Given the description of an element on the screen output the (x, y) to click on. 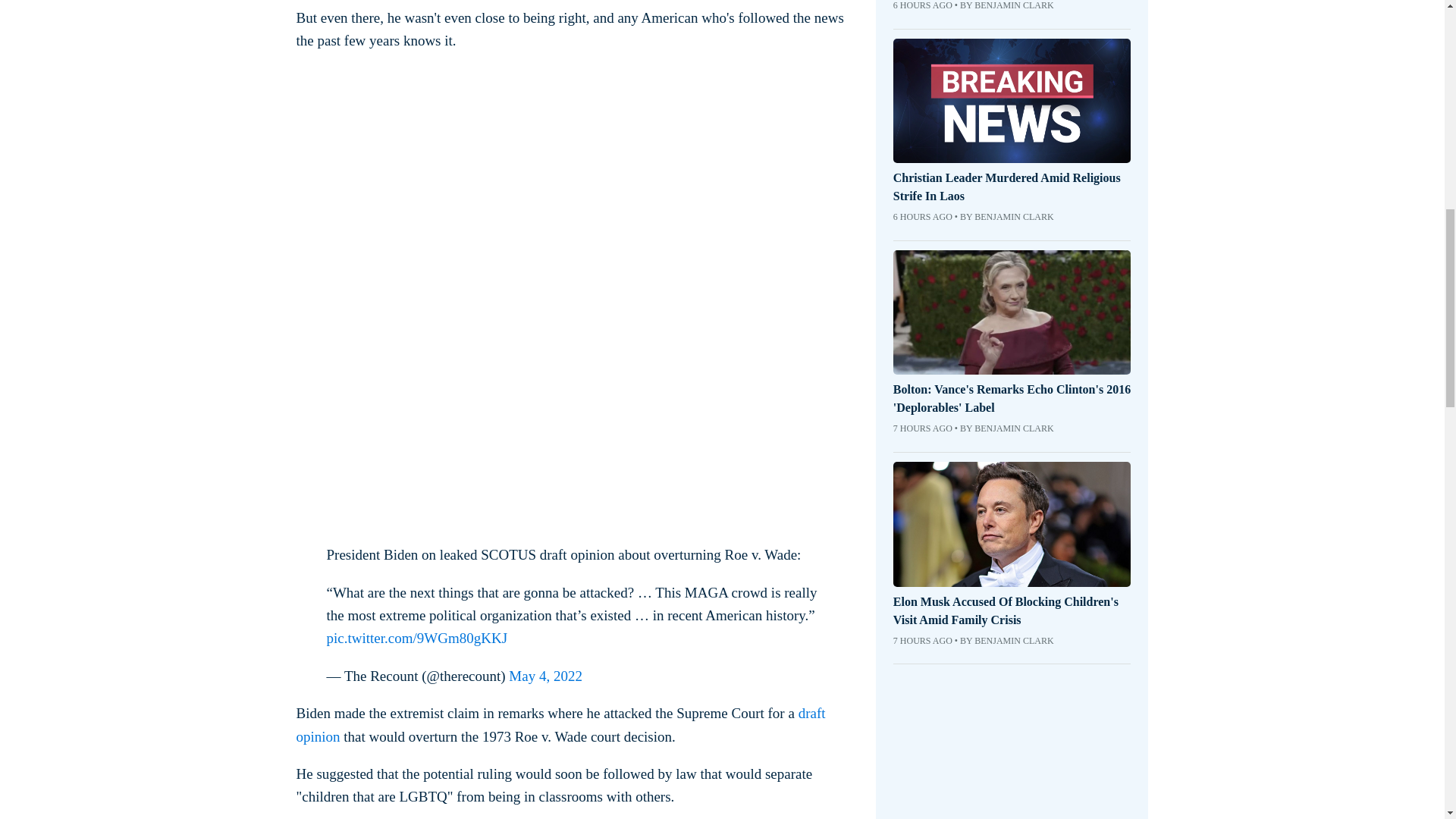
draft opinion (560, 724)
May 4, 2022 (545, 675)
